Given the description of an element on the screen output the (x, y) to click on. 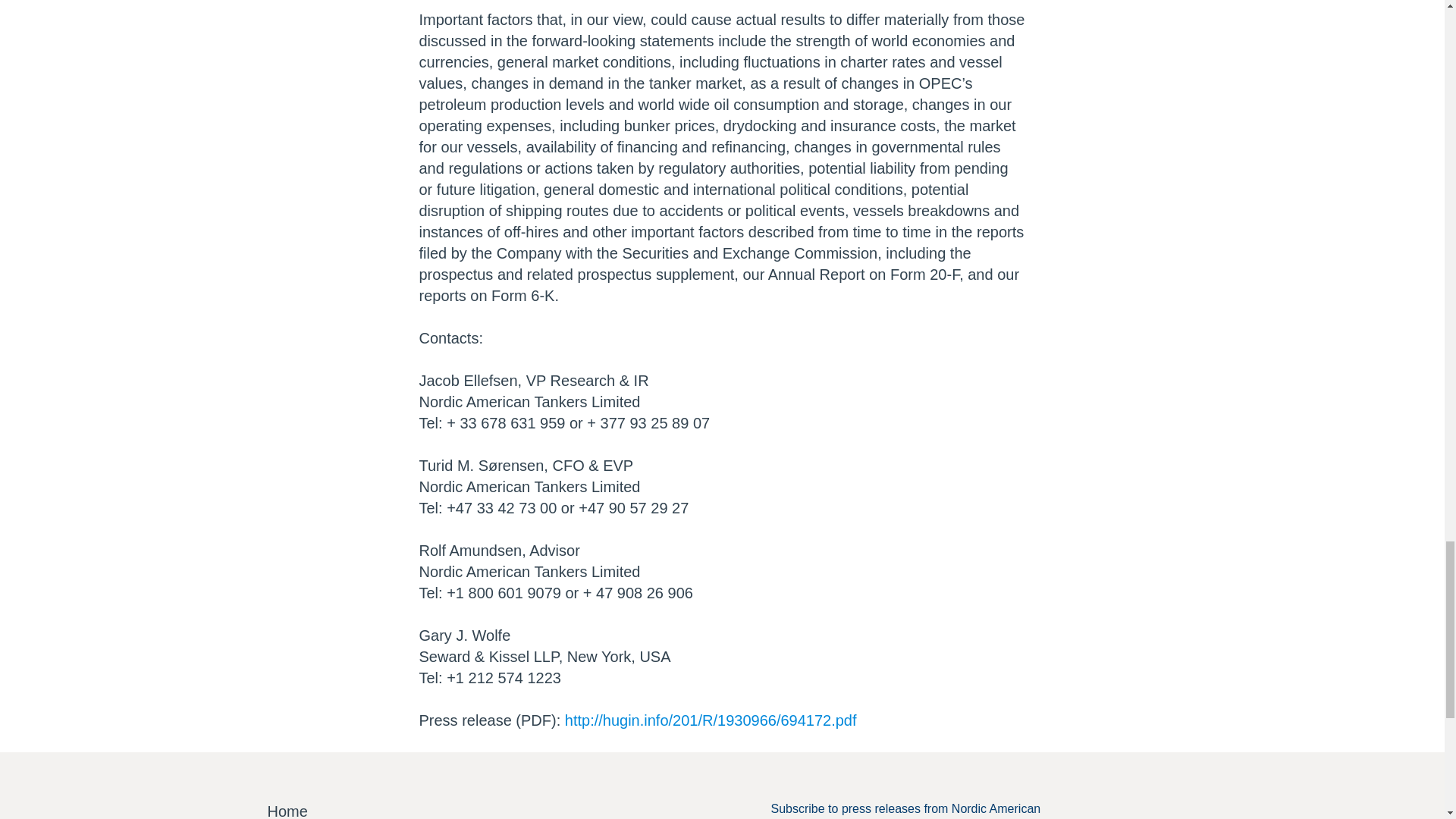
Home (286, 809)
